Given the description of an element on the screen output the (x, y) to click on. 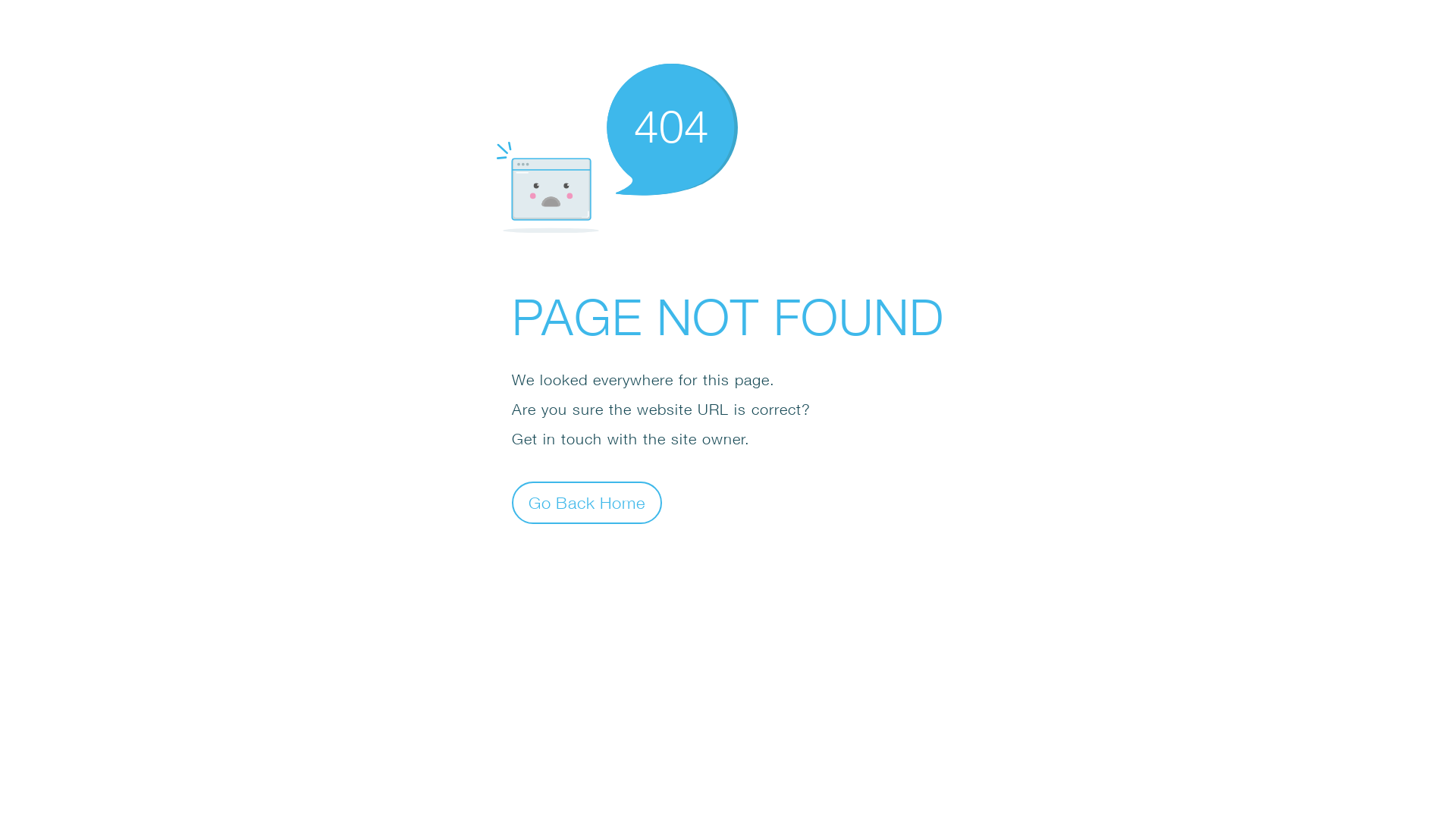
Go Back Home Element type: text (586, 502)
